Given the description of an element on the screen output the (x, y) to click on. 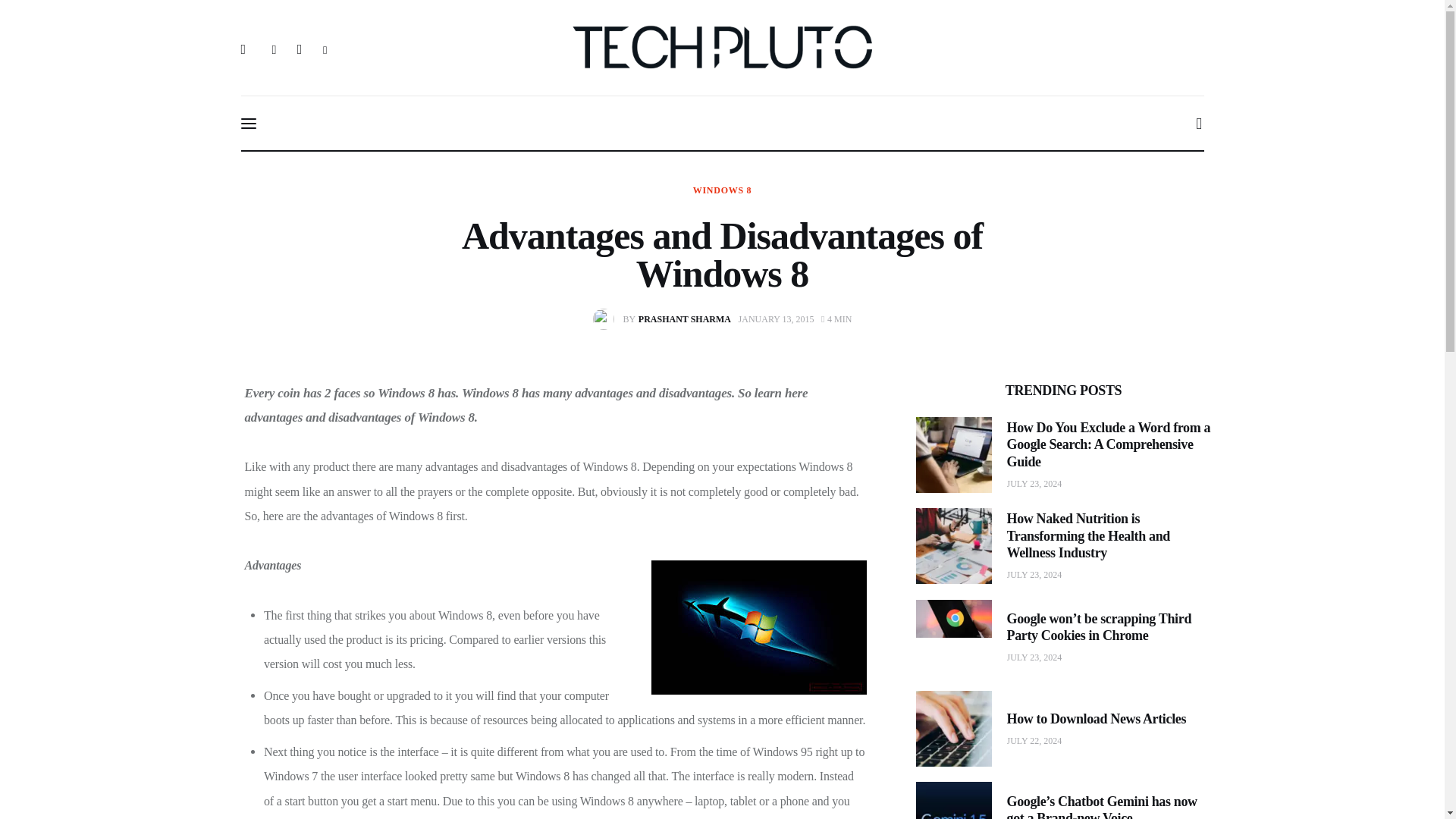
WINDOWS 8 (722, 190)
4 MIN (836, 318)
